Given the description of an element on the screen output the (x, y) to click on. 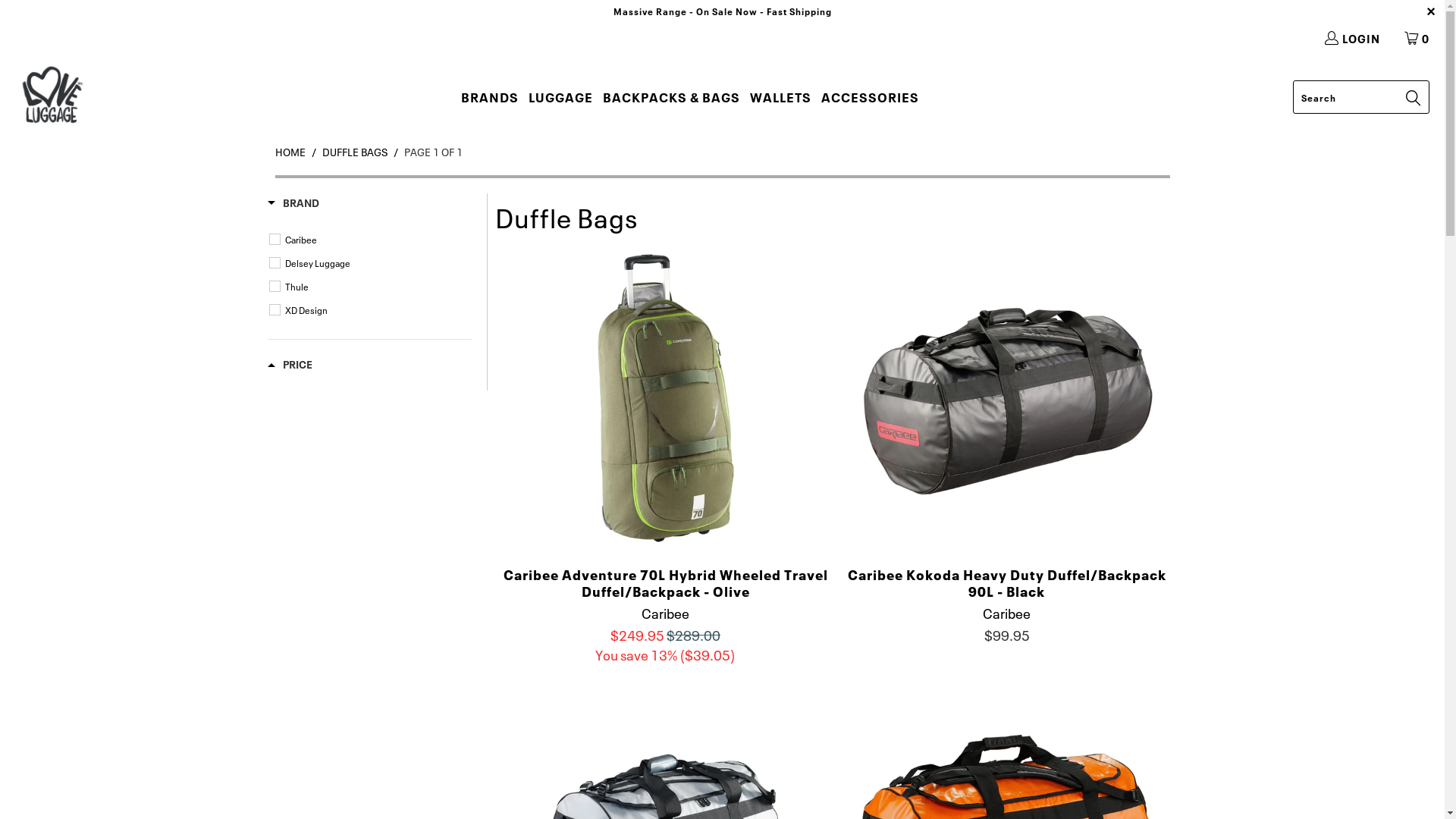
DUFFLE BAGS Element type: text (353, 151)
Delsey Luggage Element type: text (371, 263)
ACCESSORIES Element type: text (870, 96)
BRANDS Element type: text (489, 96)
HOME Element type: text (289, 151)
WALLETS Element type: text (780, 96)
0 Element type: text (1417, 37)
Love Luggage Element type: hover (51, 96)
BACKPACKS & BAGS Element type: text (671, 96)
PRICE Element type: text (288, 365)
LOGIN Element type: text (1351, 38)
Thule Element type: text (371, 286)
LUGGAGE Element type: text (560, 96)
XD Design Element type: text (371, 310)
Caribee Element type: text (371, 239)
BRAND Element type: text (292, 203)
